Given the description of an element on the screen output the (x, y) to click on. 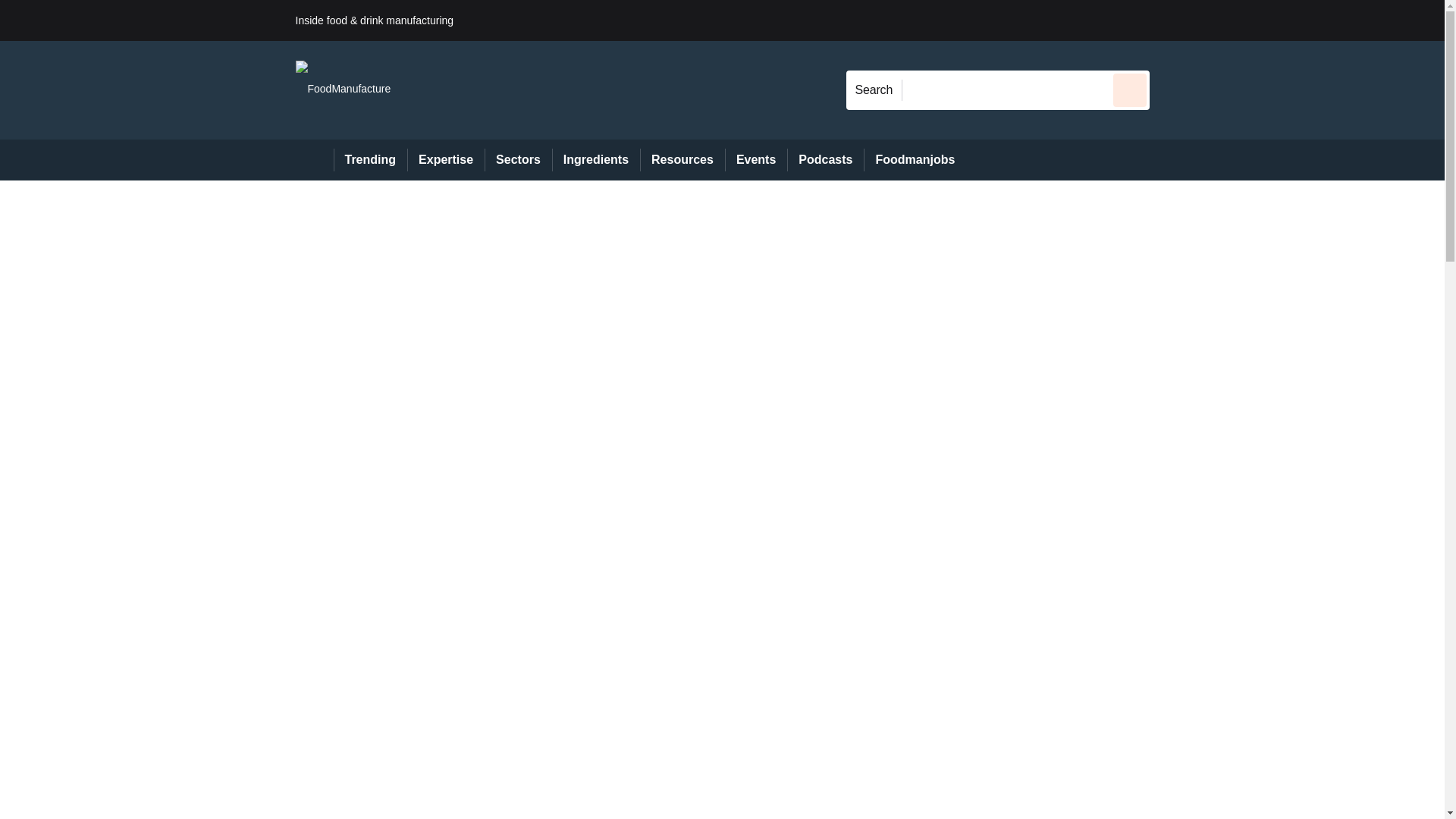
Home (313, 159)
Sign out (1174, 20)
Send (1129, 90)
FoodManufacture (343, 89)
My account (1256, 20)
Home (314, 159)
Expertise (445, 159)
Trending (370, 159)
Sign in (1171, 20)
Send (1129, 89)
